Given the description of an element on the screen output the (x, y) to click on. 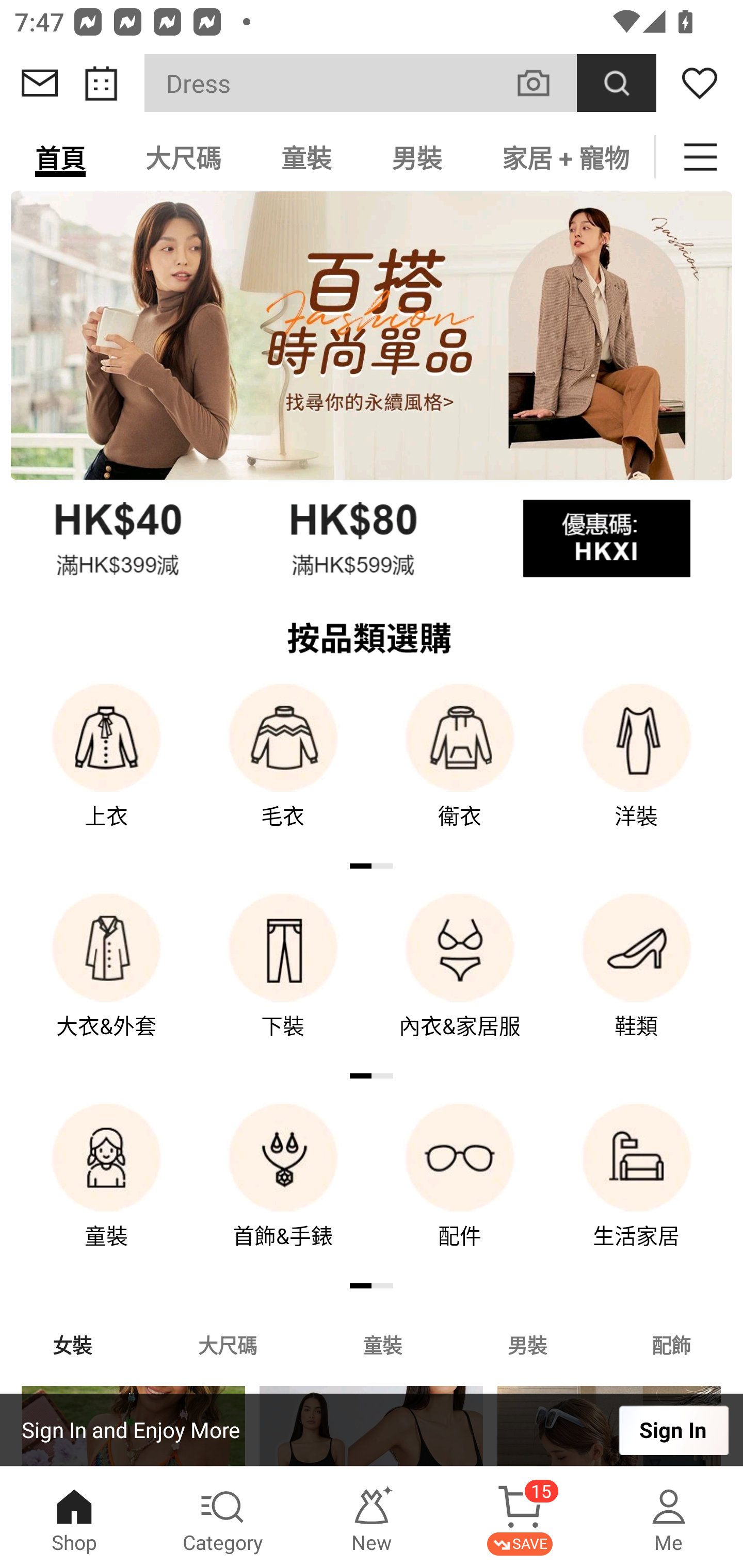
Wishlist (699, 82)
VISUAL SEARCH (543, 82)
首頁 (60, 156)
大尺碼 (183, 156)
童裝 (306, 156)
男裝 (416, 156)
家居 + 寵物 (563, 156)
上衣 (105, 769)
毛衣 (282, 769)
衛衣 (459, 769)
洋裝 (636, 769)
大衣&外套 (105, 979)
下裝 (282, 979)
內衣&家居服 (459, 979)
鞋類 (636, 979)
童裝 (105, 1189)
首飾&手錶 (282, 1189)
配件 (459, 1189)
生活家居 (636, 1189)
女裝 (72, 1344)
大尺碼 (226, 1344)
童裝 (381, 1344)
男裝 (527, 1344)
配飾 (671, 1344)
Sign In and Enjoy More Sign In (371, 1429)
Category (222, 1517)
New (371, 1517)
Cart 15 SAVE (519, 1517)
Me (668, 1517)
